Given the description of an element on the screen output the (x, y) to click on. 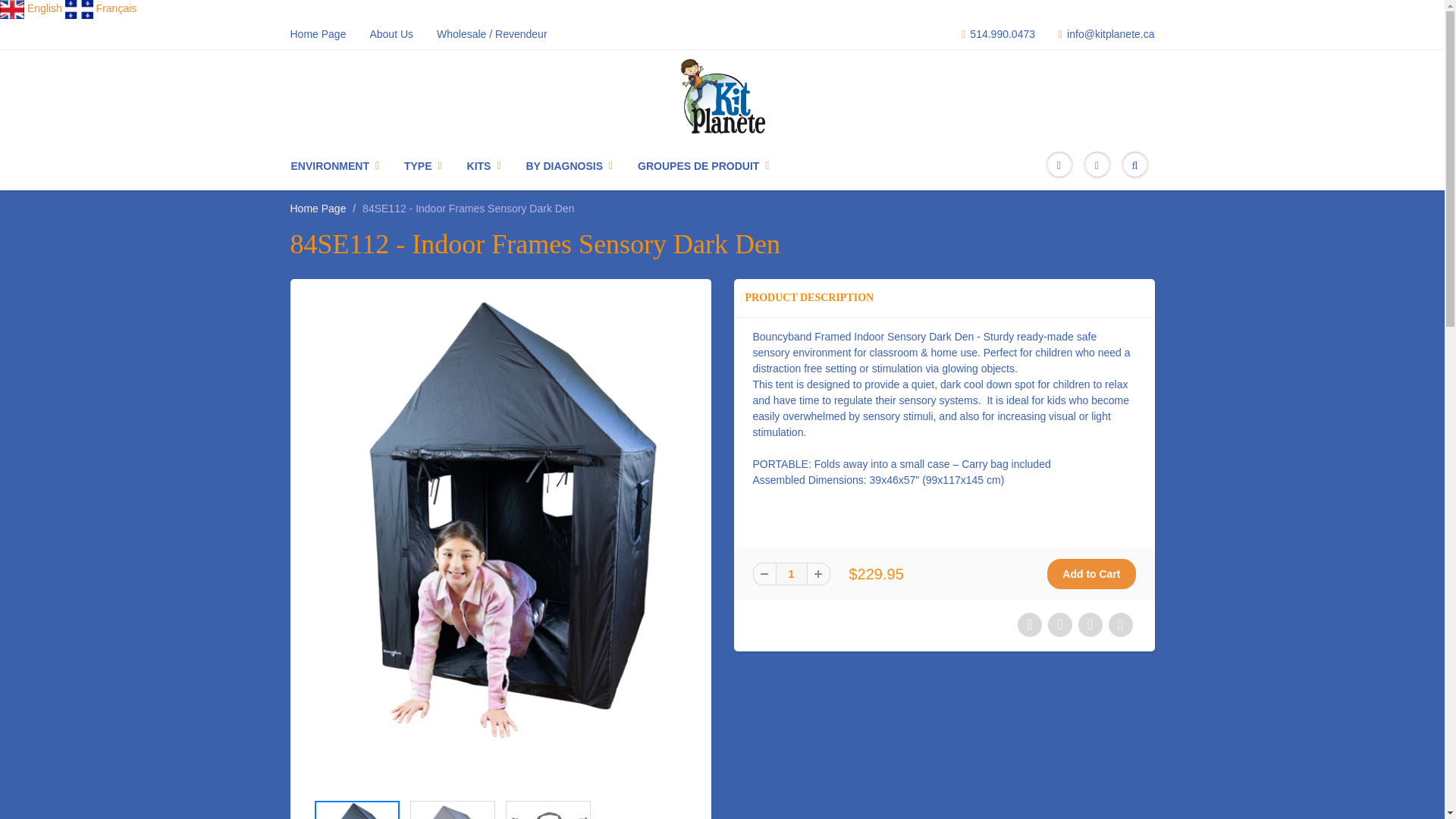
TYPE (424, 165)
About Us (391, 33)
Home Page (317, 33)
ENVIRONMENT (342, 165)
Home Page (317, 208)
English (44, 8)
KITS (485, 165)
1 (790, 573)
Add to Cart (1090, 573)
514.990.0473 (997, 33)
